Given the description of an element on the screen output the (x, y) to click on. 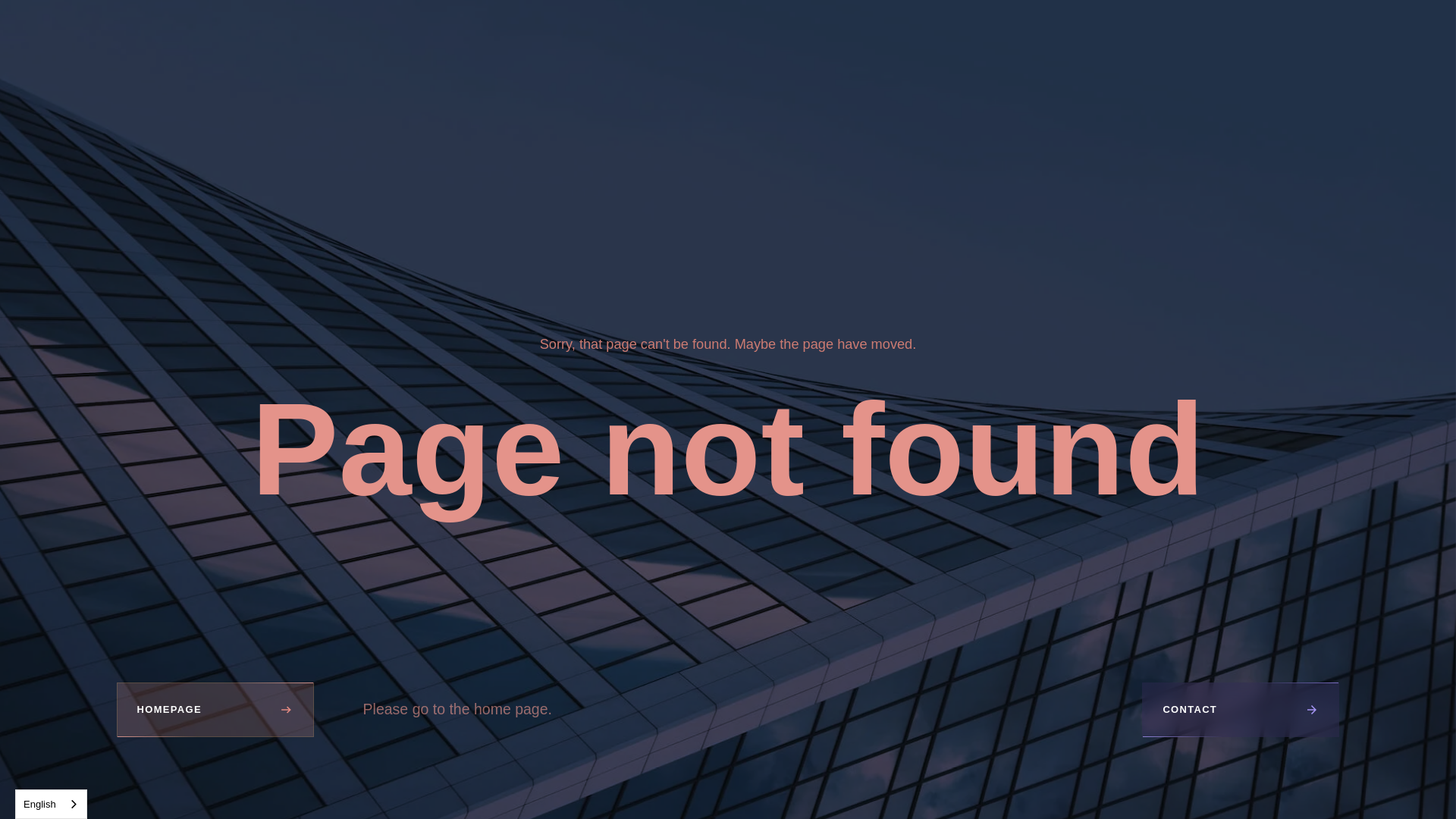
CONTACT (1240, 709)
English (50, 804)
HOMEPAGE (215, 709)
